Given the description of an element on the screen output the (x, y) to click on. 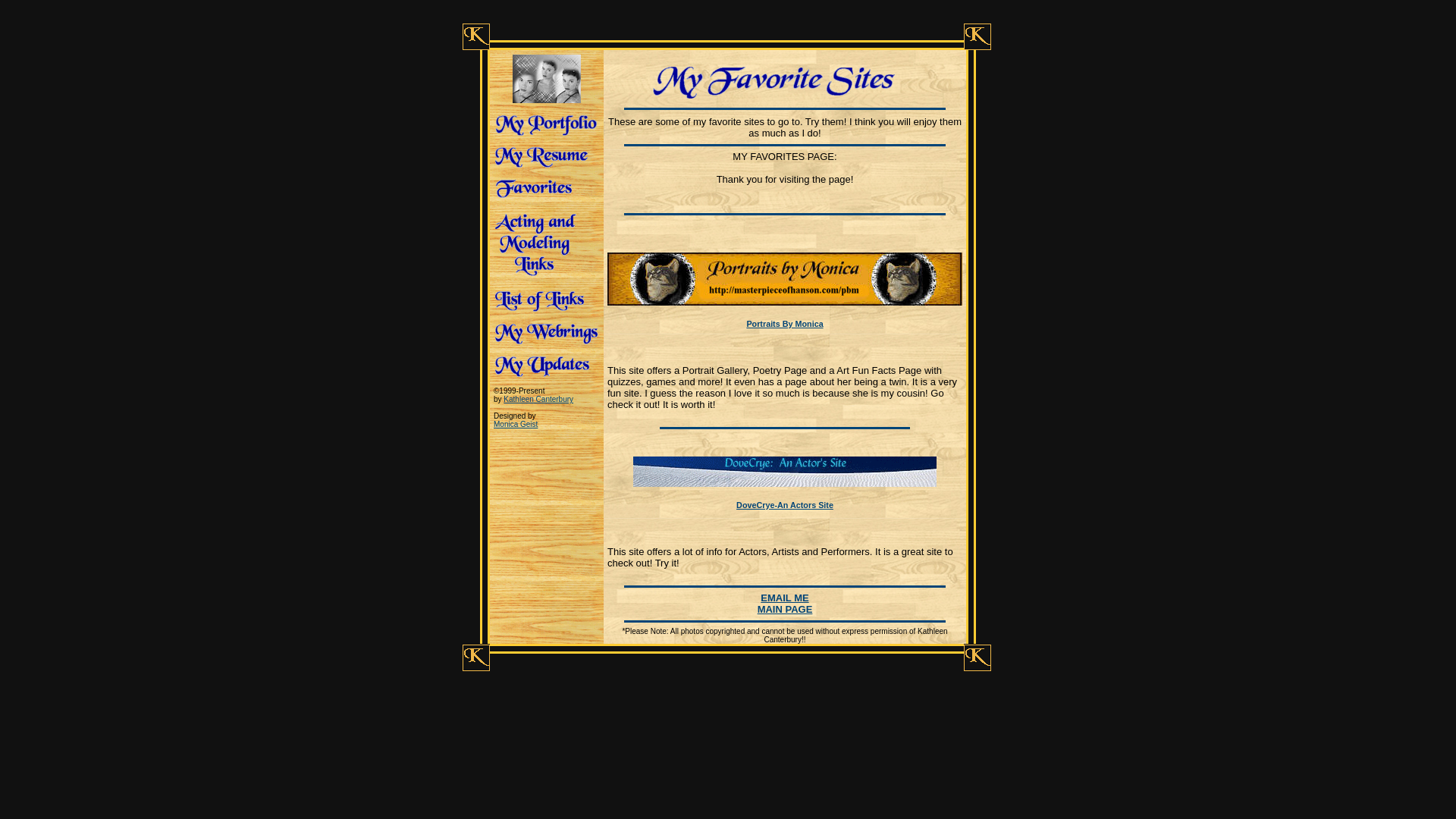
Monica Geist (515, 424)
Portraits By Monica (784, 312)
EMAIL ME (784, 597)
DoveCrye-An Actors Site (784, 493)
MAIN PAGE (784, 609)
Kathleen Canterbury (538, 398)
